Given the description of an element on the screen output the (x, y) to click on. 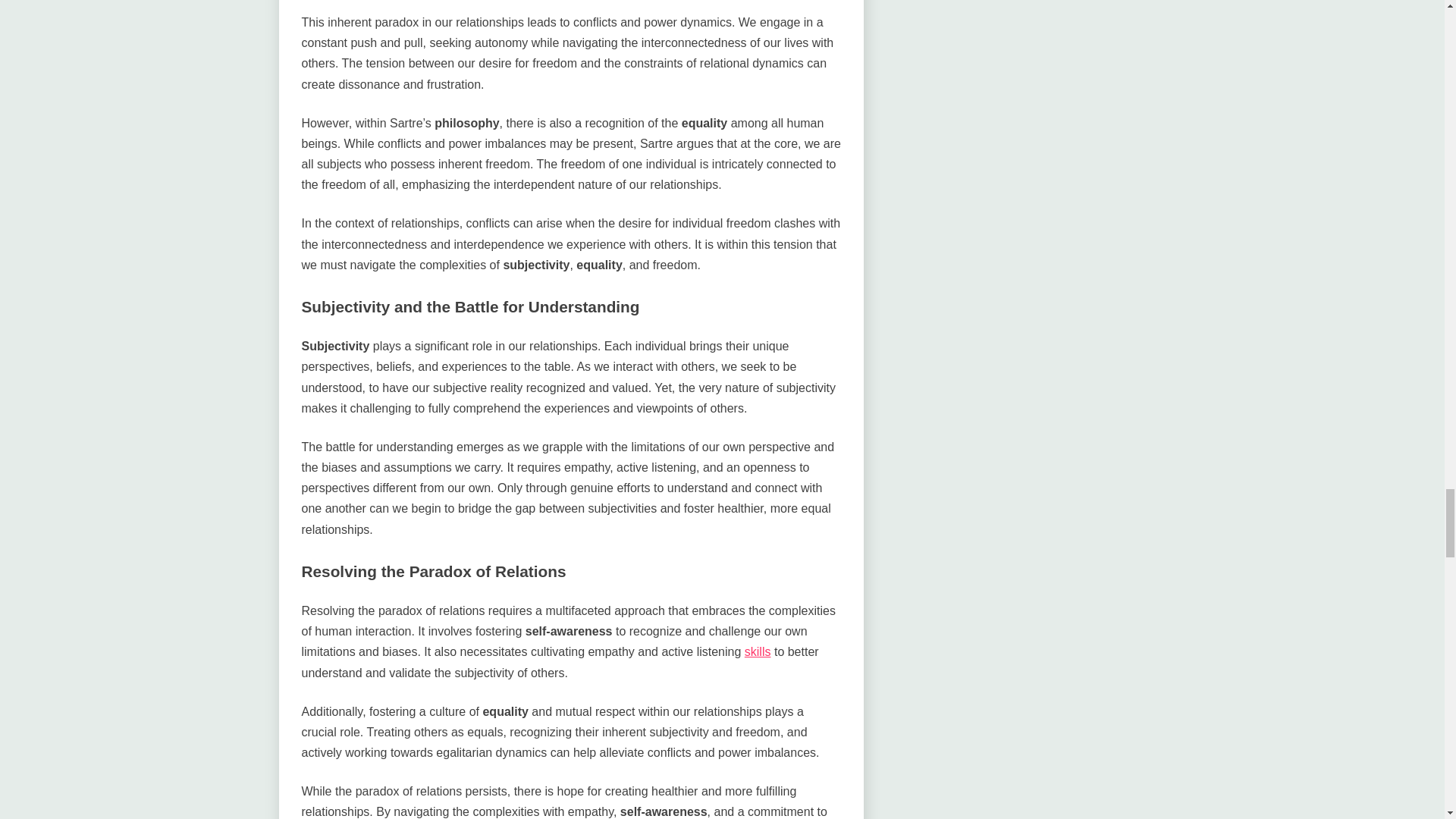
skills (757, 651)
skills (757, 651)
